Given the description of an element on the screen output the (x, y) to click on. 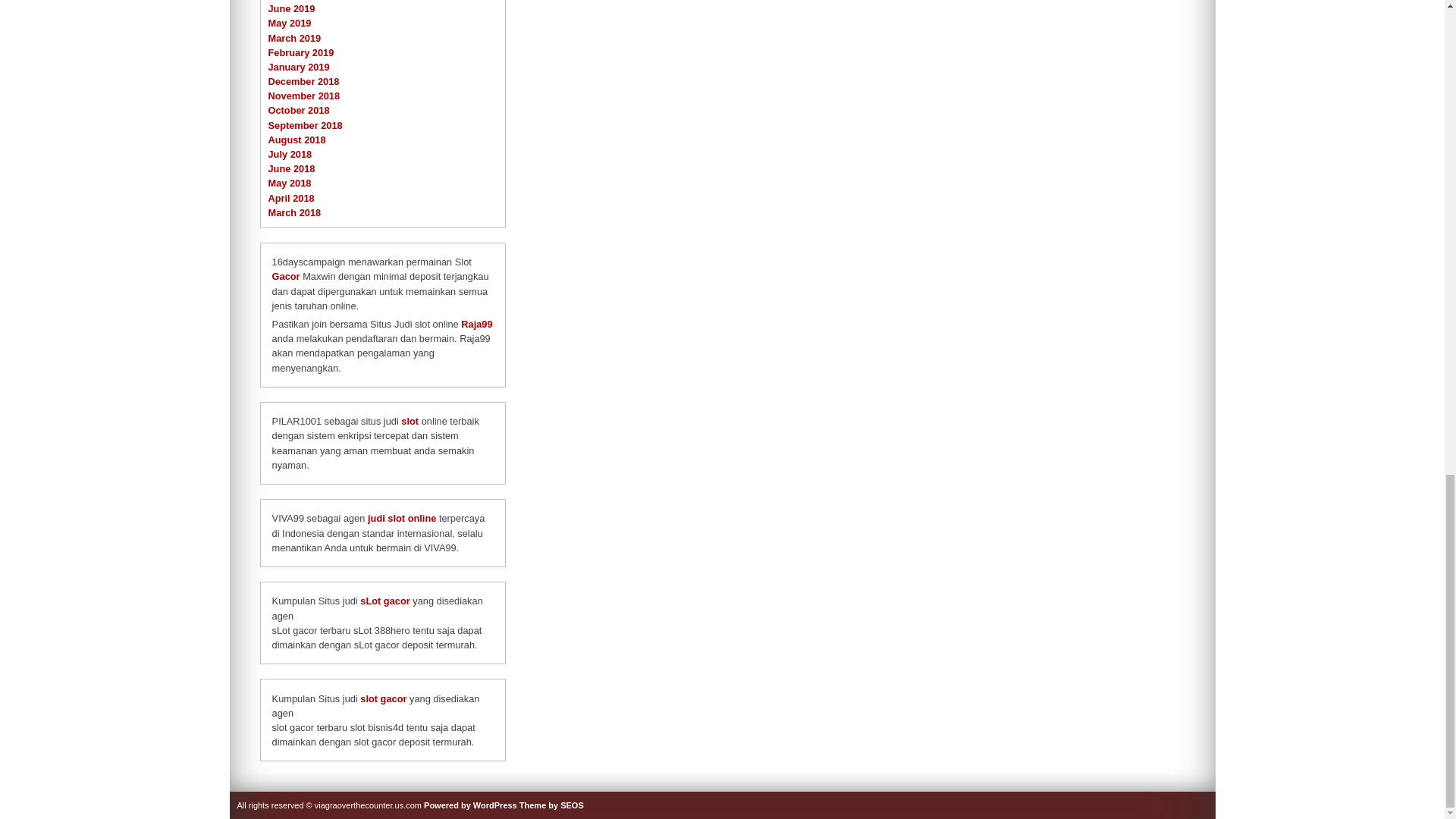
Seos free wordpress themes (551, 804)
